Given the description of an element on the screen output the (x, y) to click on. 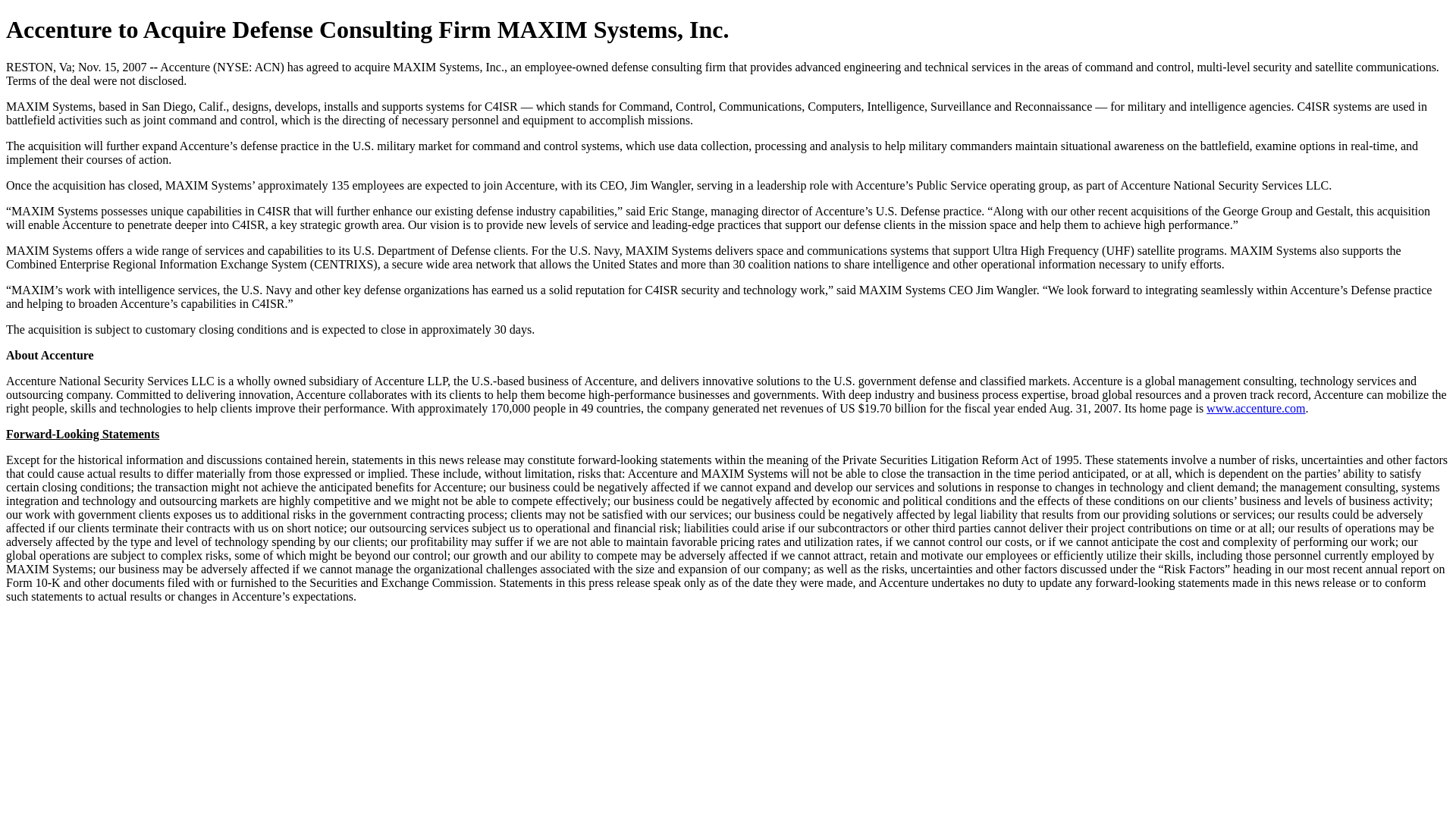
www.accenture.com (1255, 408)
